Given the description of an element on the screen output the (x, y) to click on. 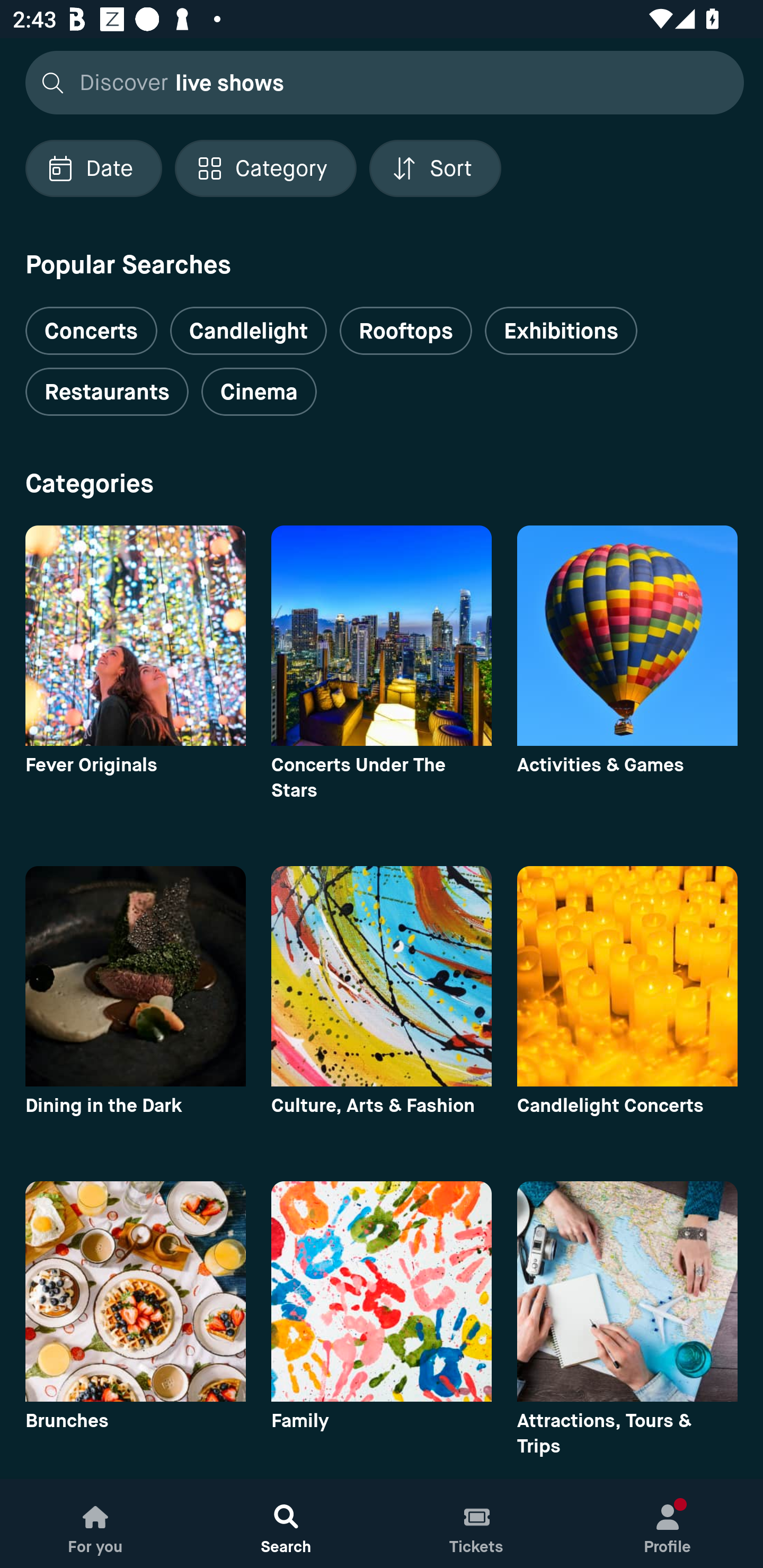
Discover live shows (379, 81)
Localized description Date (93, 168)
Localized description Category (265, 168)
Localized description Sort (435, 168)
Concerts (91, 323)
Candlelight (248, 330)
Rooftops (405, 330)
Exhibitions (560, 330)
Restaurants (106, 391)
Cinema (258, 391)
category image (135, 635)
category image (381, 635)
category image (627, 635)
category image (135, 975)
category image (381, 975)
category image (627, 975)
category image (135, 1290)
category image (381, 1290)
category image (627, 1290)
For you (95, 1523)
Tickets (476, 1523)
Profile, New notification Profile (667, 1523)
